Given the description of an element on the screen output the (x, y) to click on. 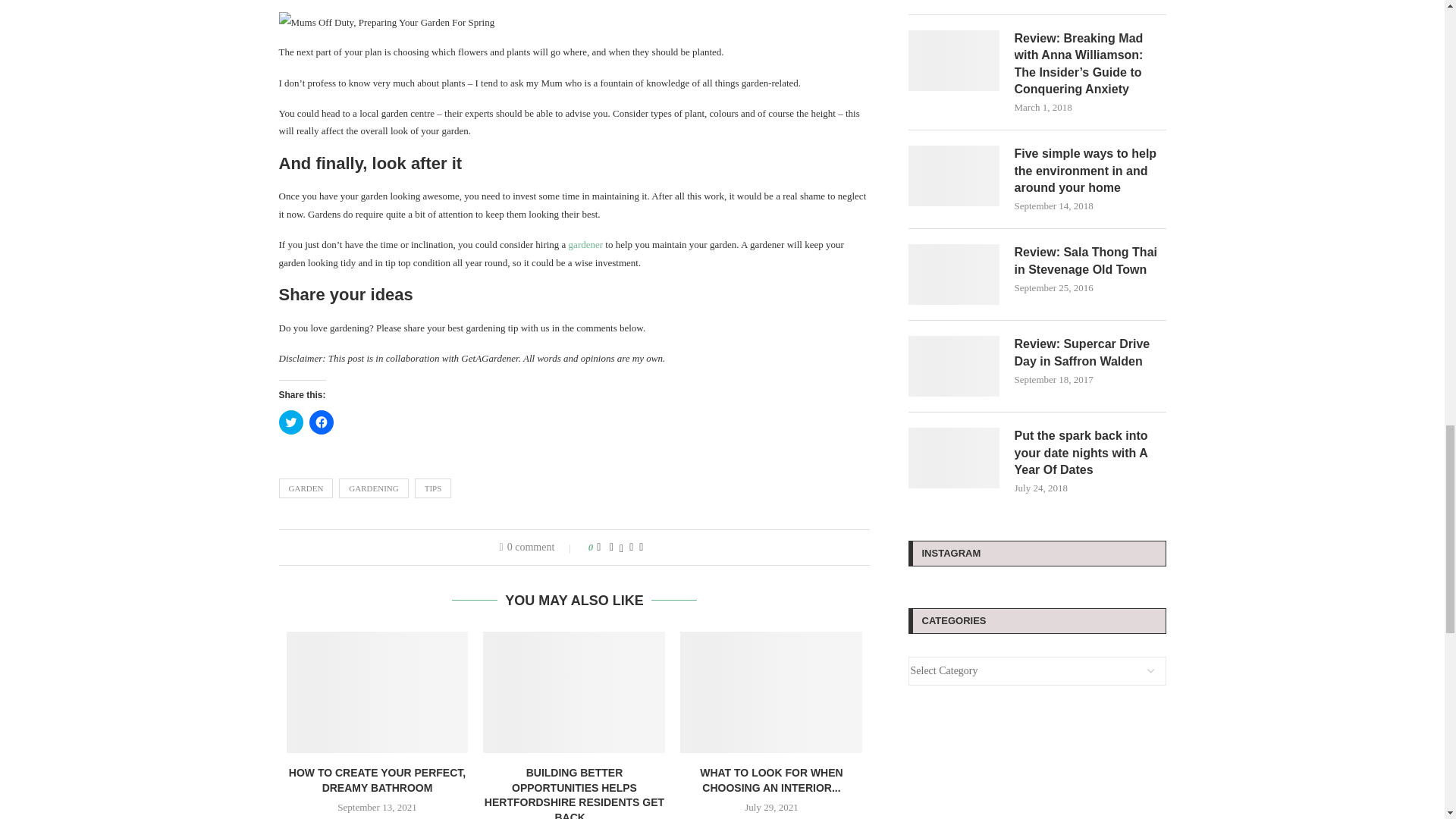
Click to share on Facebook (320, 422)
TIPS (432, 487)
GARDENING (373, 487)
What to look for when choosing an interior designer (770, 691)
GARDEN (306, 487)
gardener (585, 244)
Click to share on Twitter (290, 422)
How to create your perfect, dreamy bathroom (377, 691)
